Given the description of an element on the screen output the (x, y) to click on. 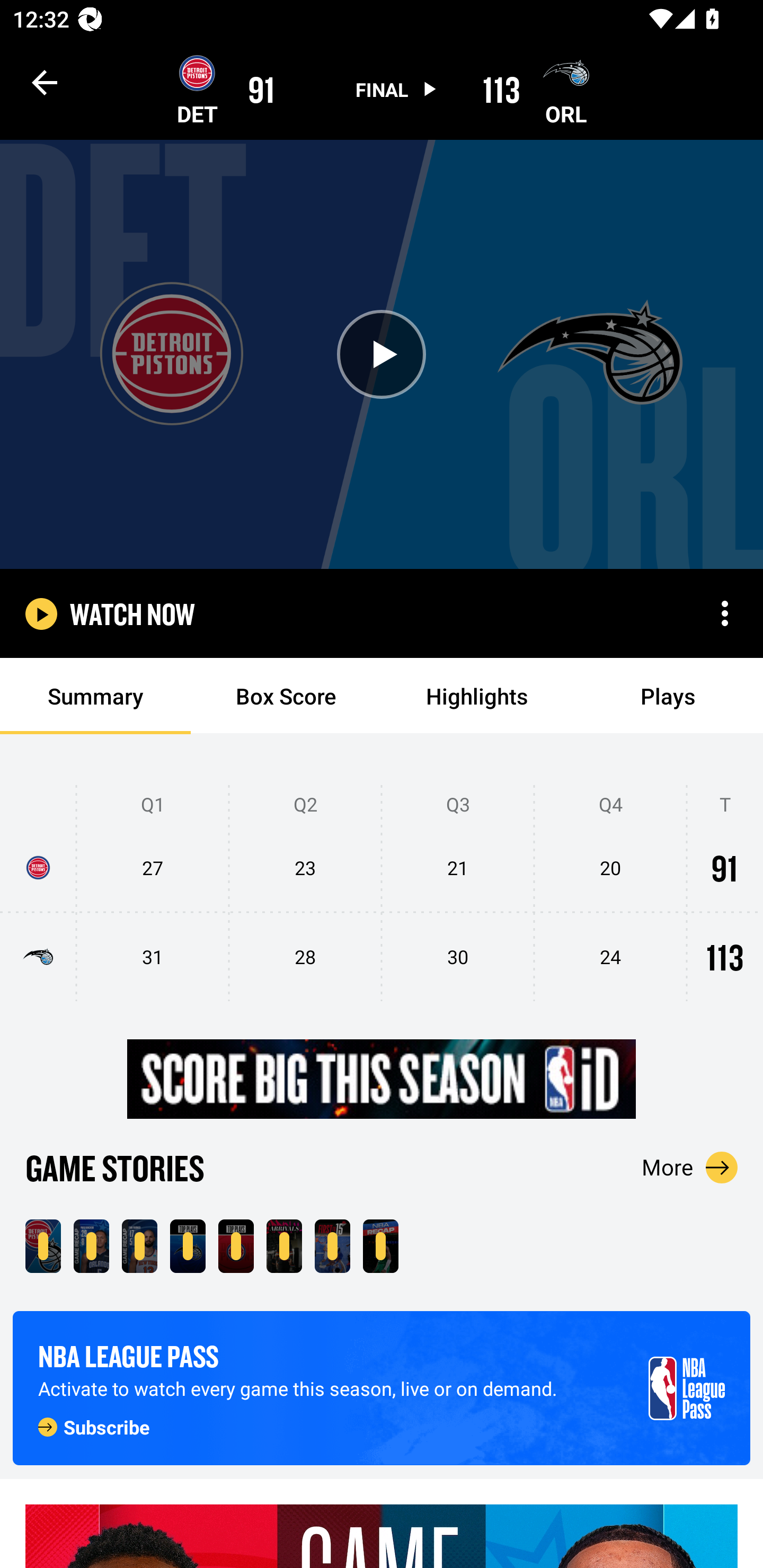
Navigate up (44, 82)
More options (724, 613)
WATCH NOW (132, 613)
Box Score (285, 695)
Highlights (476, 695)
Plays (667, 695)
Q1 Q2 Q3 Q4 T 27 23 21 20 91 31 28 30 24 113 (381, 893)
More (689, 1166)
NEW ORL 113, DET 91 - Mar 3 (43, 1246)
NEW Highlights From Paolo Banchero's 29-Point Game (91, 1246)
NEW Highlights From Evan Fournier's 17-Point Game (139, 1246)
NEW ORL's Top Plays from DET vs. ORL (187, 1246)
NEW DET's Top Plays from DET vs. ORL (236, 1246)
Steppin' Into Sunday 🔥 NEW (284, 1246)
First To 15, Mar. 3rd NEW (332, 1246)
Sunday's Recap NEW (380, 1246)
